Given the description of an element on the screen output the (x, y) to click on. 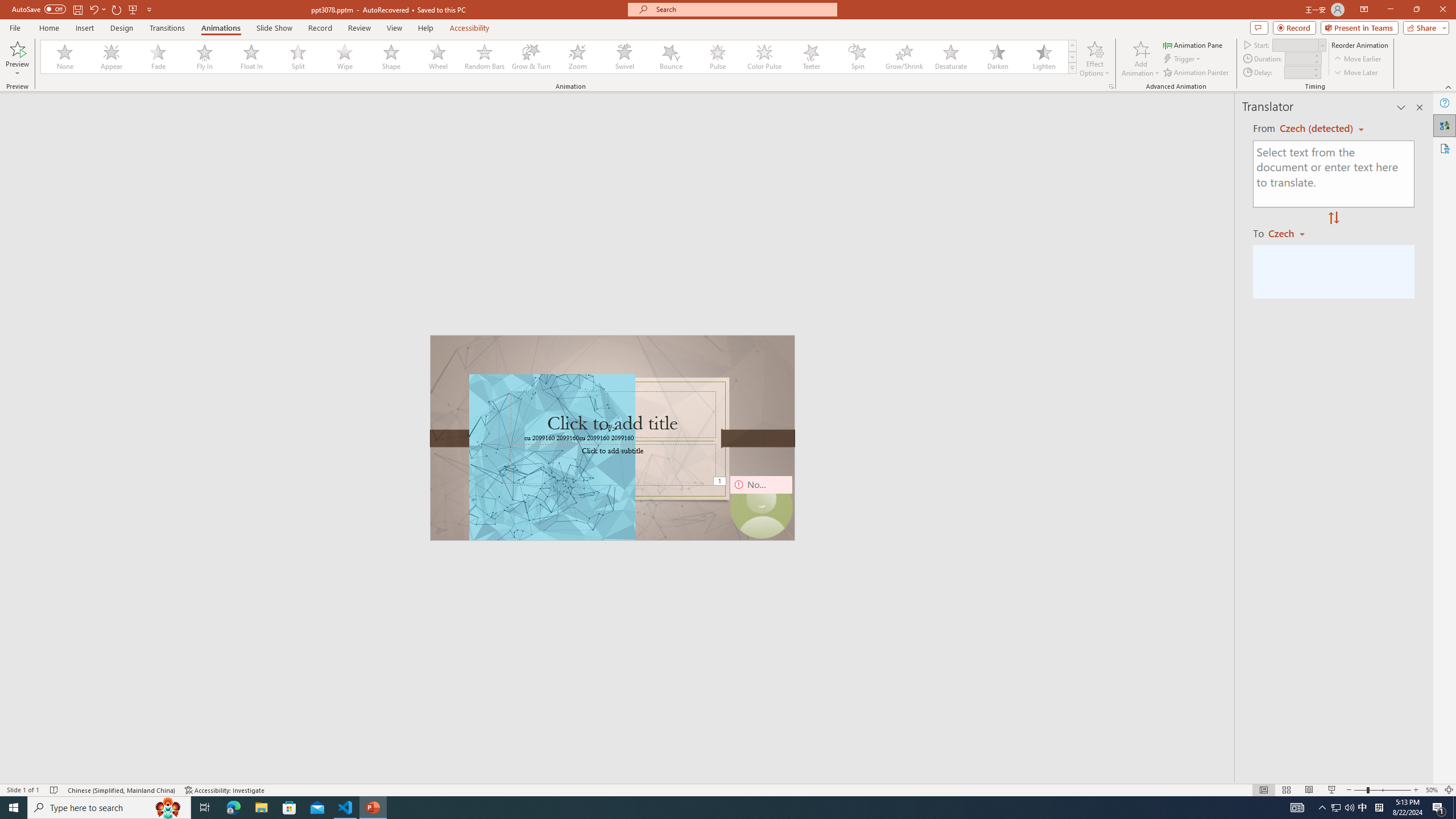
Adjust indents and spacing - Microsoft Support (23, 348)
Google Chrome (729, 800)
